Given the description of an element on the screen output the (x, y) to click on. 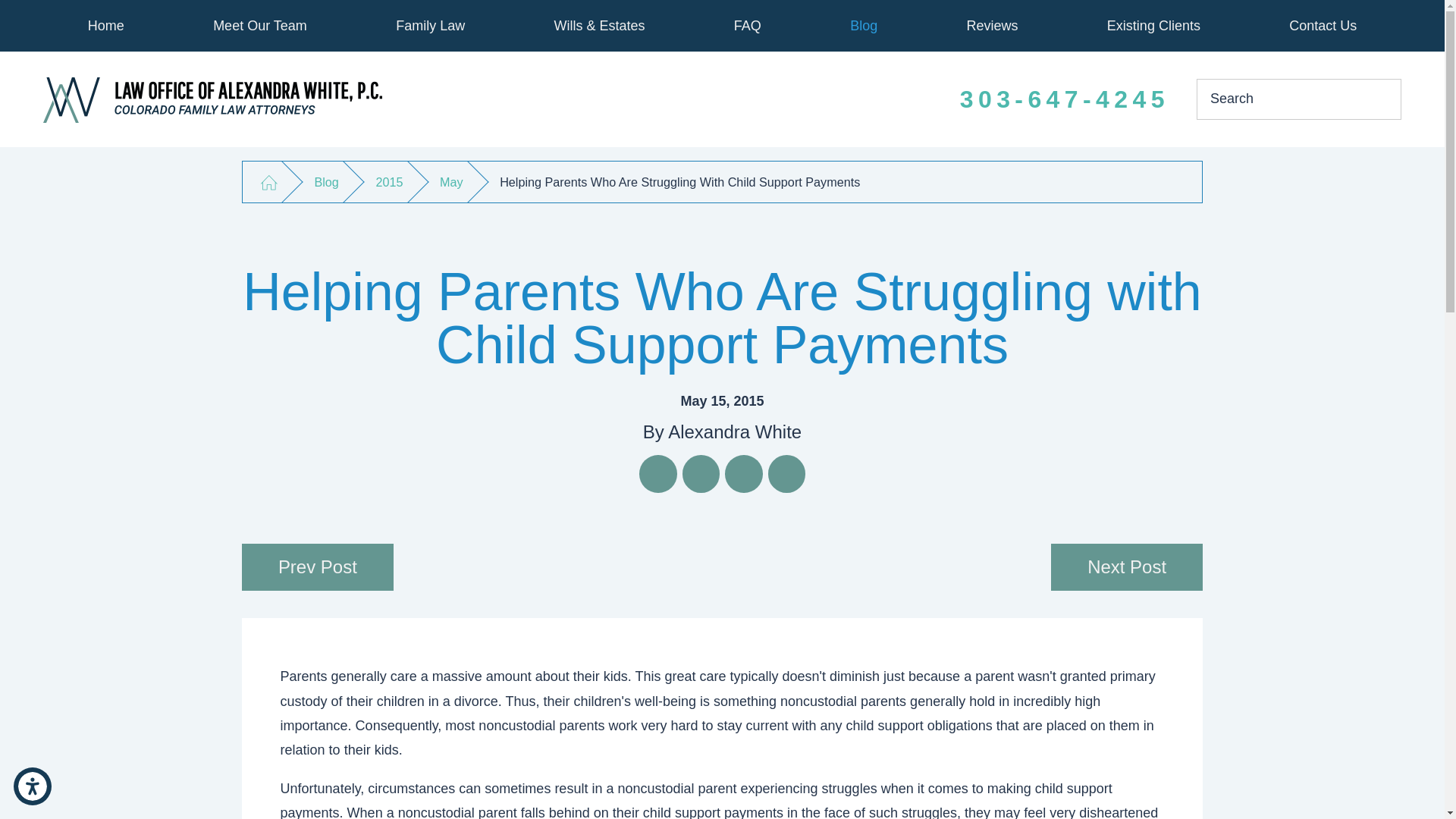
Family Law (430, 25)
Go Home (269, 181)
Law Office of Alexandra White, PC (212, 99)
Search Our Site (1378, 99)
Home (105, 25)
Blog (863, 25)
Open the accessibility options menu (31, 786)
Search Icon (1378, 99)
FAQ (746, 25)
Meet Our Team (259, 25)
